Given the description of an element on the screen output the (x, y) to click on. 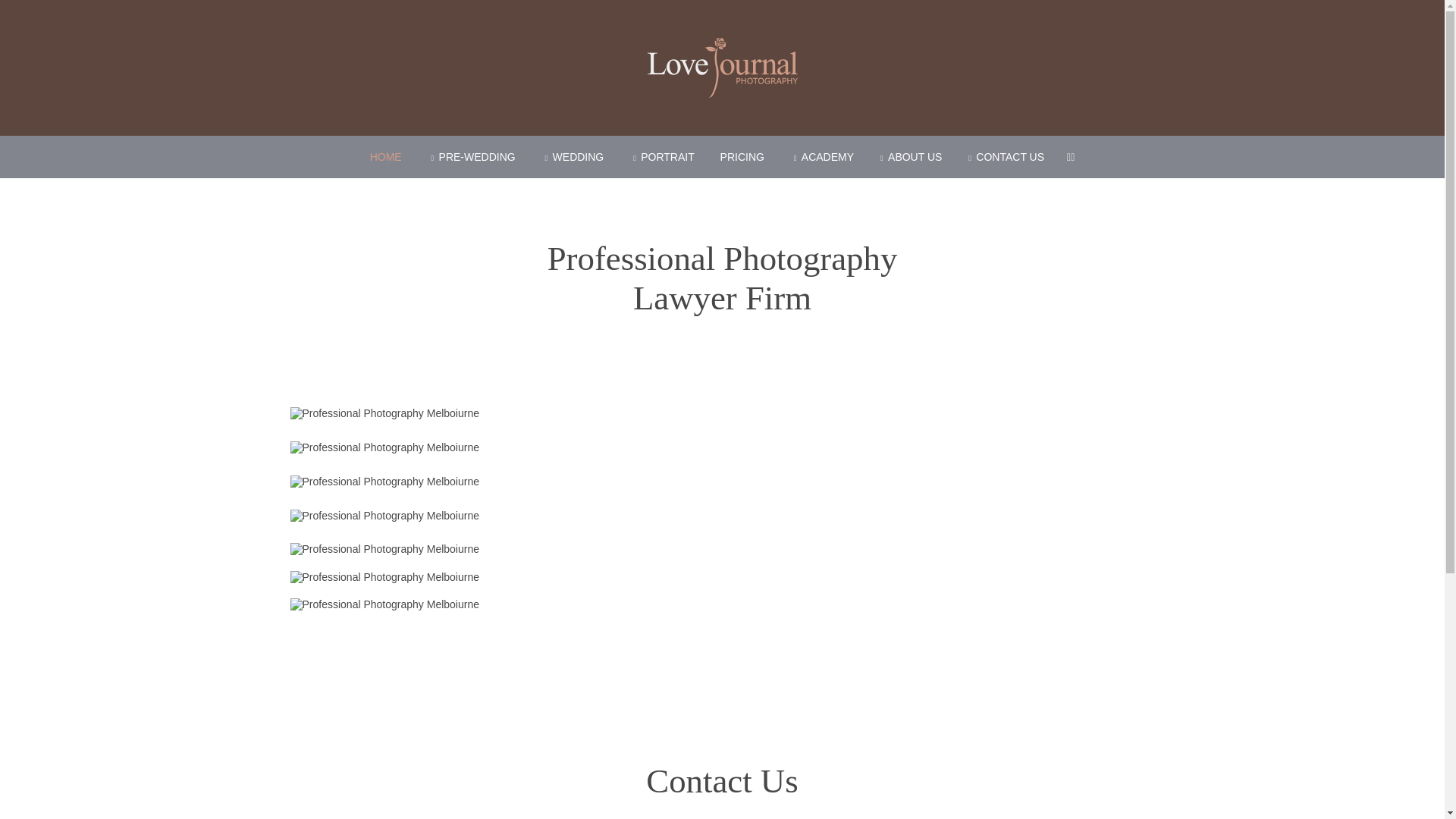
Professional Photography Melboiurne Element type: hover (383, 548)
Professional Photography Melboiurne Element type: hover (383, 447)
ACADEMY Element type: text (821, 156)
ABOUT US Element type: text (908, 156)
WEDDING Element type: text (572, 156)
Professional Photography Melboiurne Element type: hover (383, 604)
PRICING Element type: text (742, 156)
PORTRAIT Element type: text (661, 156)
Professional Photography Melboiurne Element type: hover (383, 481)
CONTACT US Element type: text (1004, 156)
HOME Element type: text (385, 156)
Professional Photography Melboiurne Element type: hover (383, 413)
Professional Photography Melboiurne Element type: hover (383, 515)
Professional Photography Melboiurne Element type: hover (383, 577)
PRE-WEDDING Element type: text (471, 156)
